Given the description of an element on the screen output the (x, y) to click on. 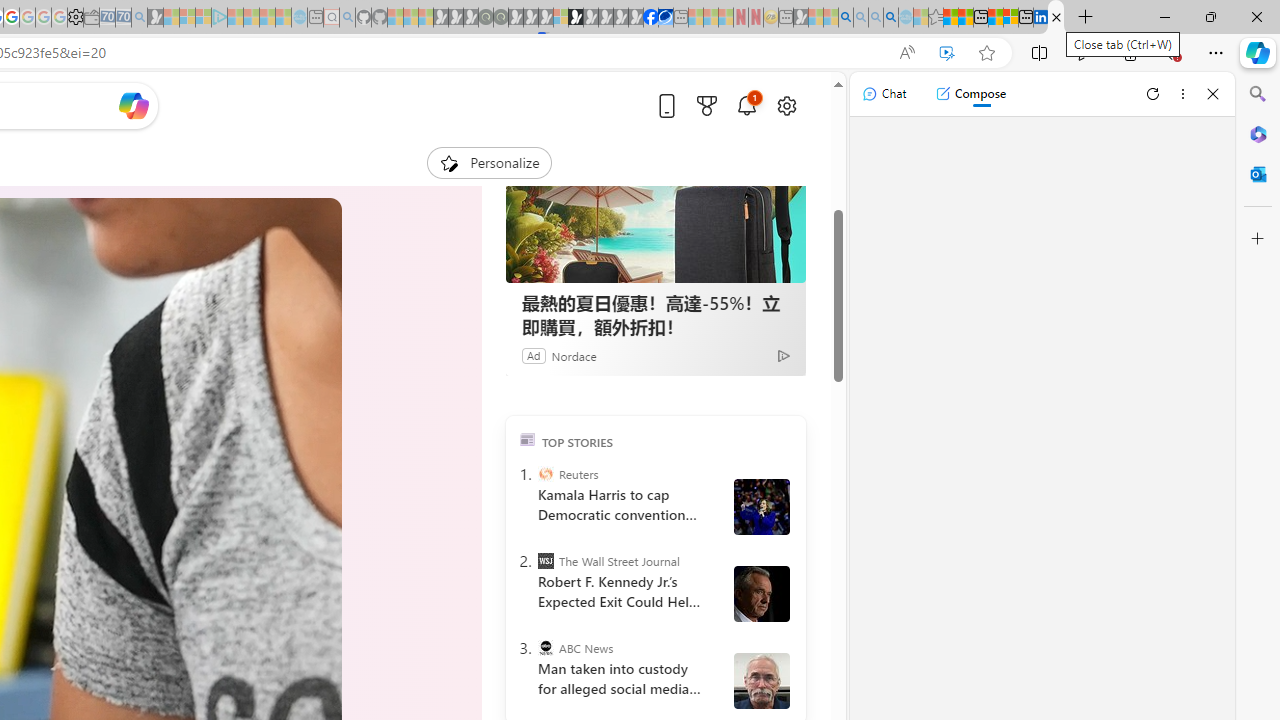
Aberdeen, Hong Kong SAR weather forecast | Microsoft Weather (965, 17)
Reuters (545, 473)
